Given the description of an element on the screen output the (x, y) to click on. 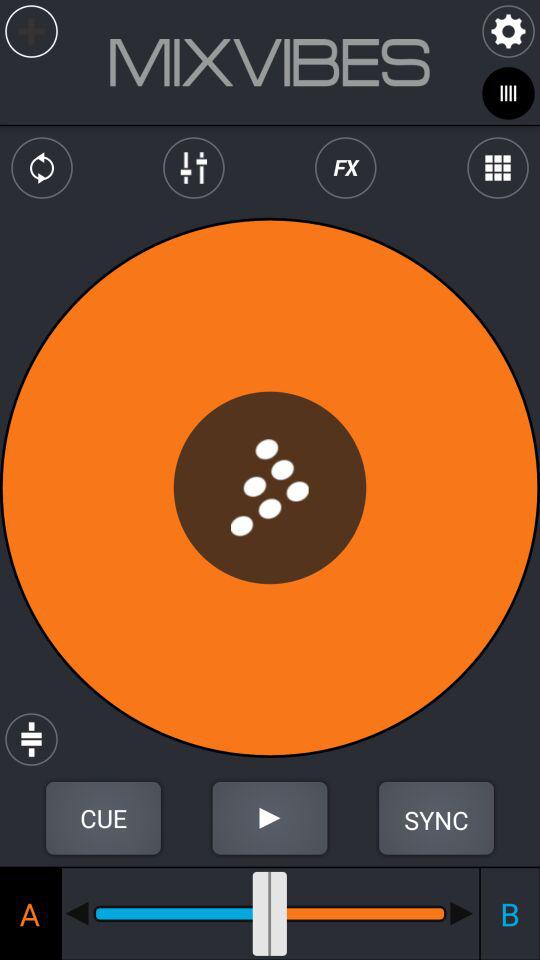
swipe to the a (30, 913)
